Given the description of an element on the screen output the (x, y) to click on. 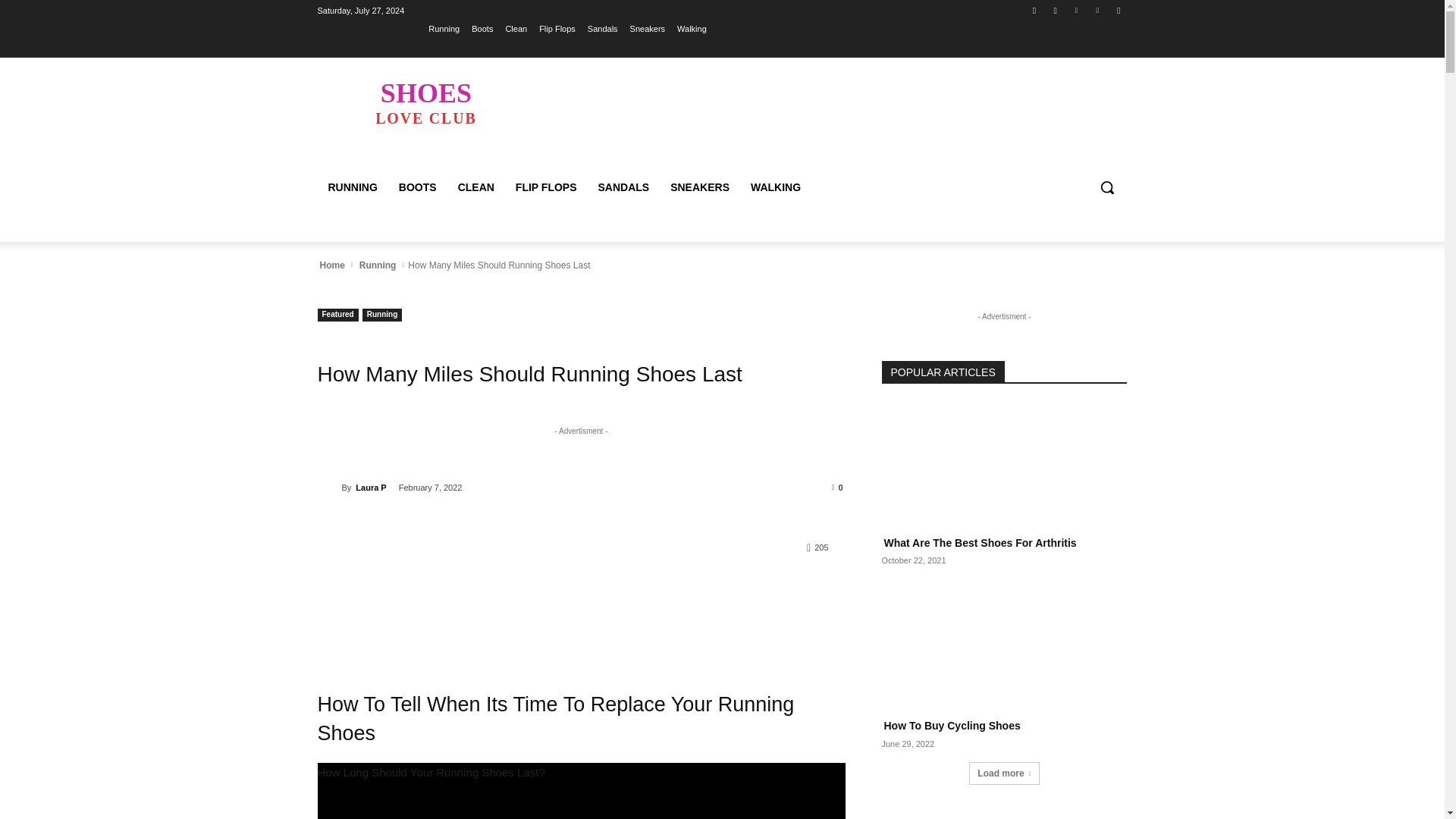
View all posts in Running (377, 264)
Youtube (1117, 9)
Flip Flops (556, 28)
BOOTS (417, 186)
Laura P (328, 487)
Twitter (425, 102)
Instagram (1075, 9)
Running (1055, 9)
Sandals (444, 28)
